Given the description of an element on the screen output the (x, y) to click on. 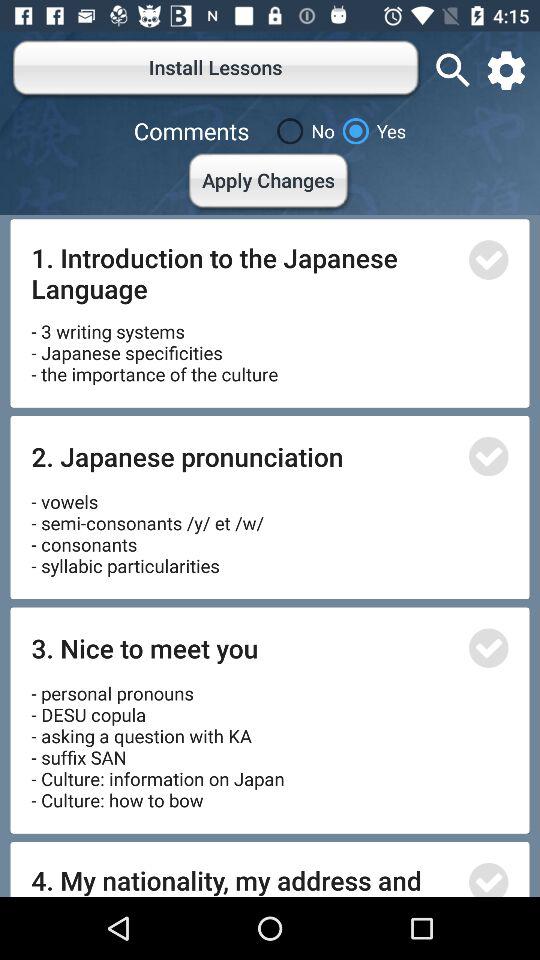
tap item below install lessons icon (301, 131)
